Given the description of an element on the screen output the (x, y) to click on. 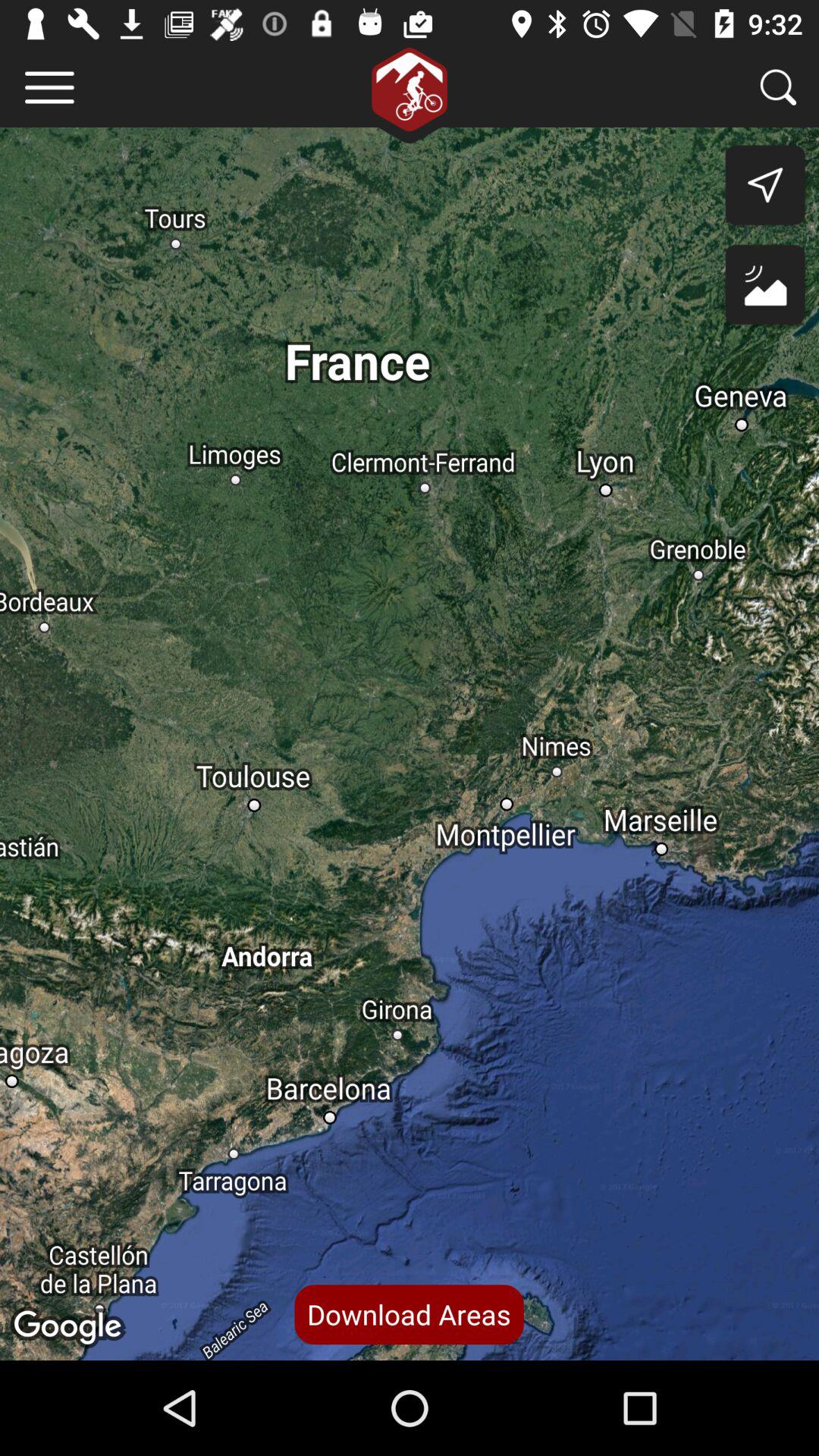
search button (778, 87)
